Given the description of an element on the screen output the (x, y) to click on. 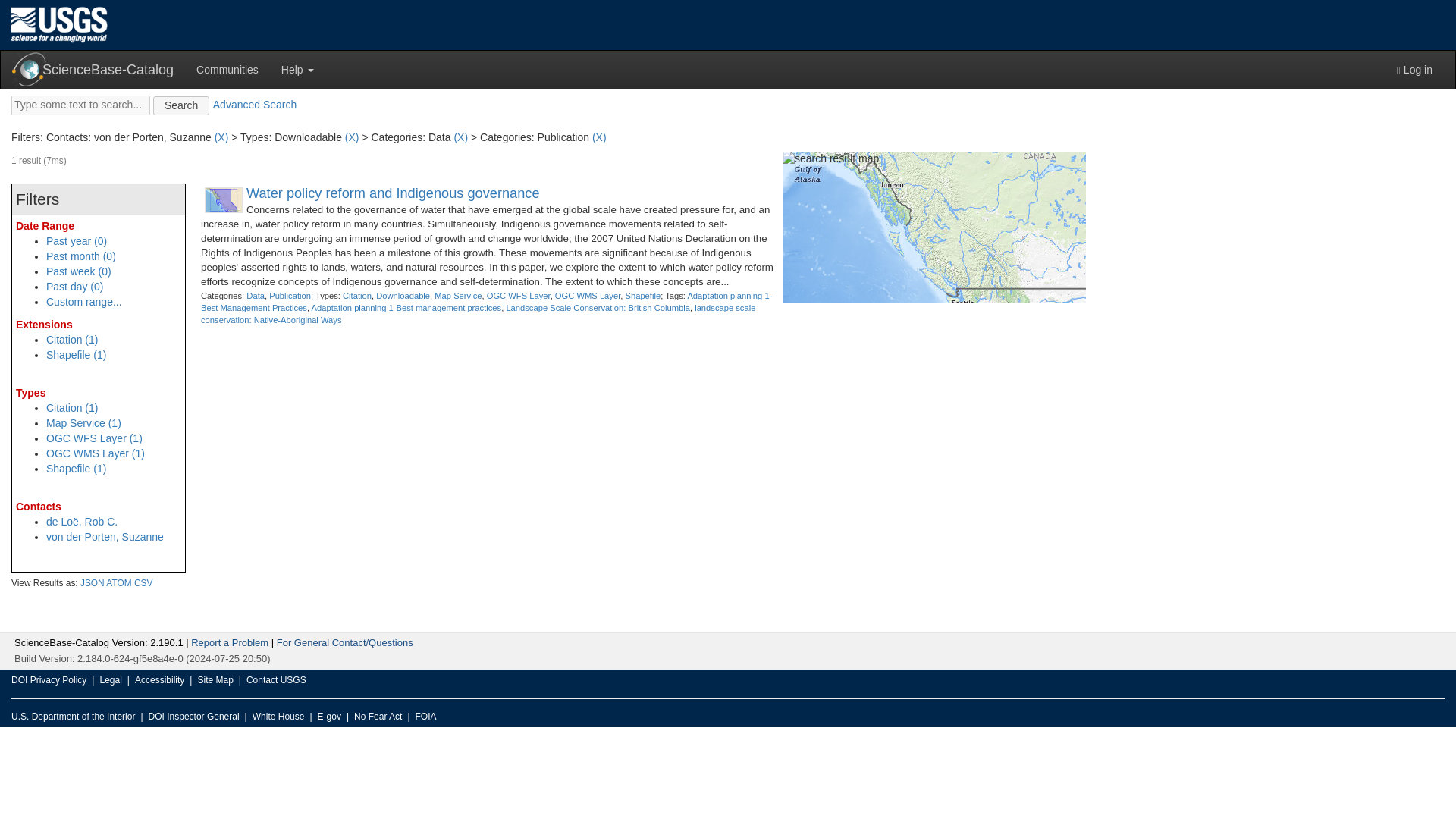
Downloadable (402, 295)
Publication (290, 295)
Water policy reform and Indigenous governance (393, 192)
JSON (92, 583)
ScienceBase (28, 69)
View ScienceBase Communities (226, 69)
Search (180, 105)
OGC WMS Layer (587, 295)
Data (255, 295)
U.S. Geological Survey Home Page (59, 24)
Advanced Search (254, 104)
Shapefile (642, 295)
Home (59, 24)
CSV (142, 583)
OGC WFS Layer (518, 295)
